Given the description of an element on the screen output the (x, y) to click on. 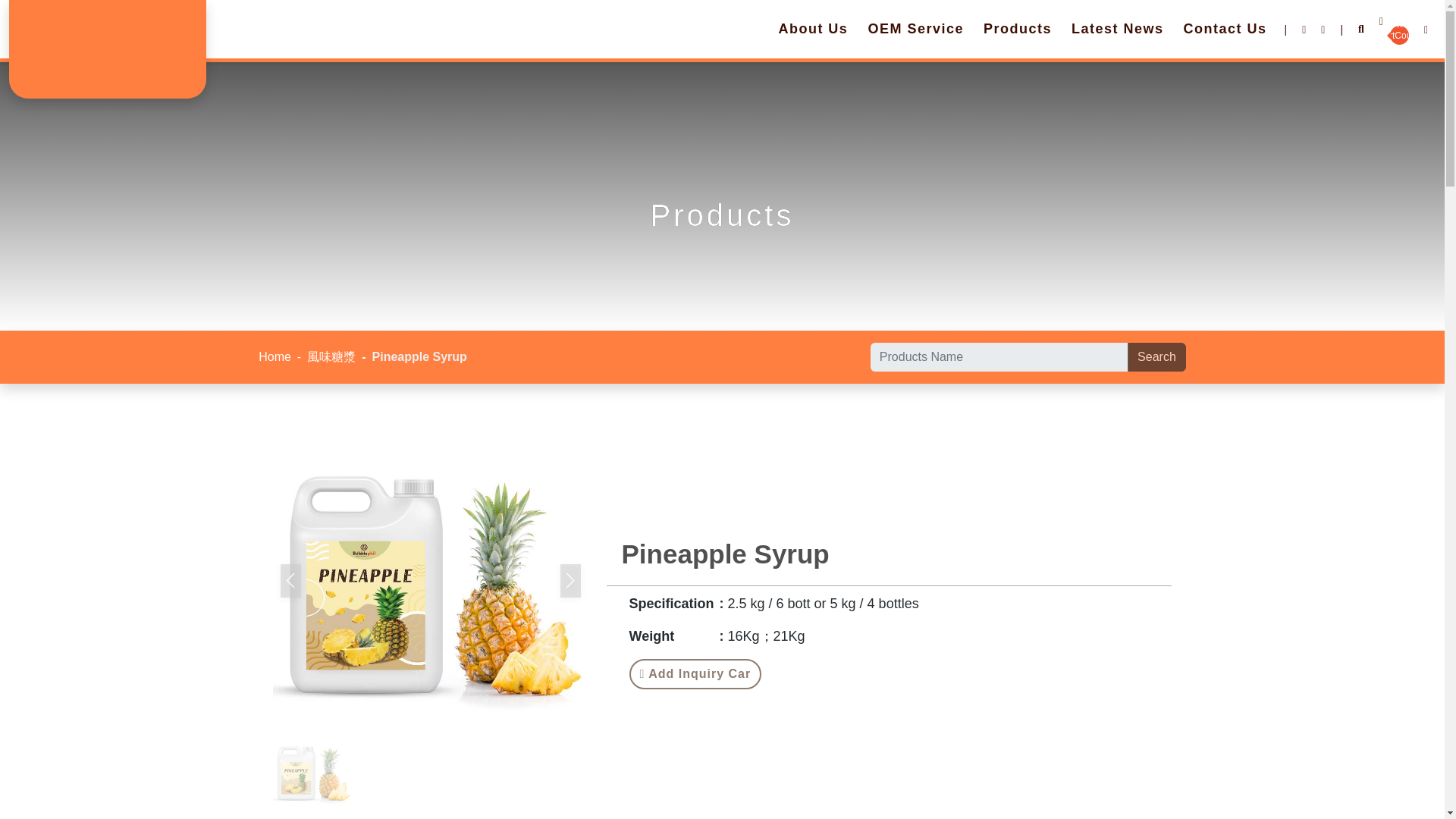
Latest News (1117, 31)
Pineapple Syrup (312, 771)
Pineapple Syrup (430, 580)
Products (1017, 31)
About Us (812, 31)
OEM Service (1022, 31)
Contact Us (915, 31)
